Given the description of an element on the screen output the (x, y) to click on. 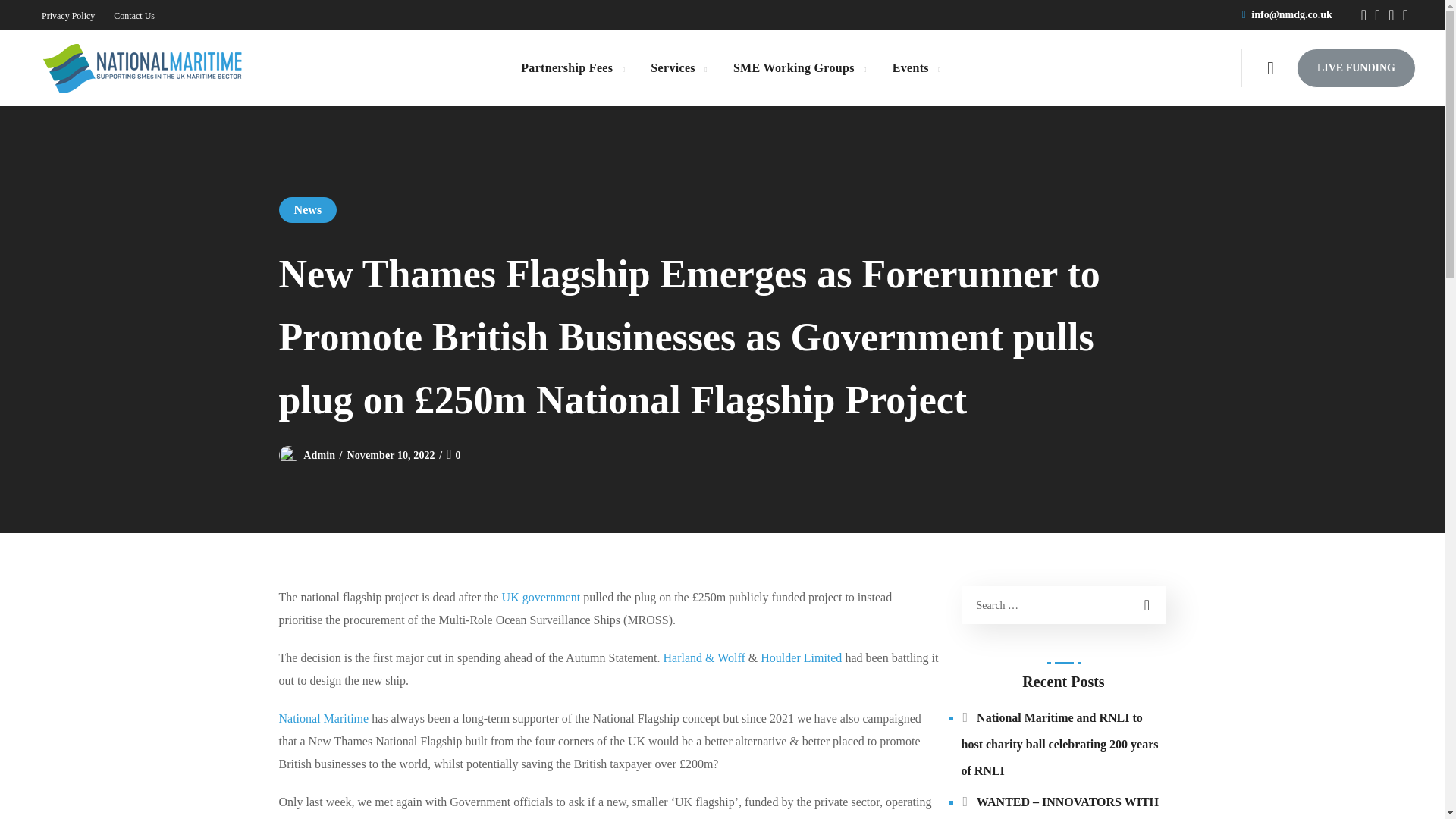
SME Working Groups (799, 68)
Privacy Policy (68, 15)
Events (916, 68)
Contact Us (133, 15)
Partnership Fees (571, 68)
Services (678, 68)
